Given the description of an element on the screen output the (x, y) to click on. 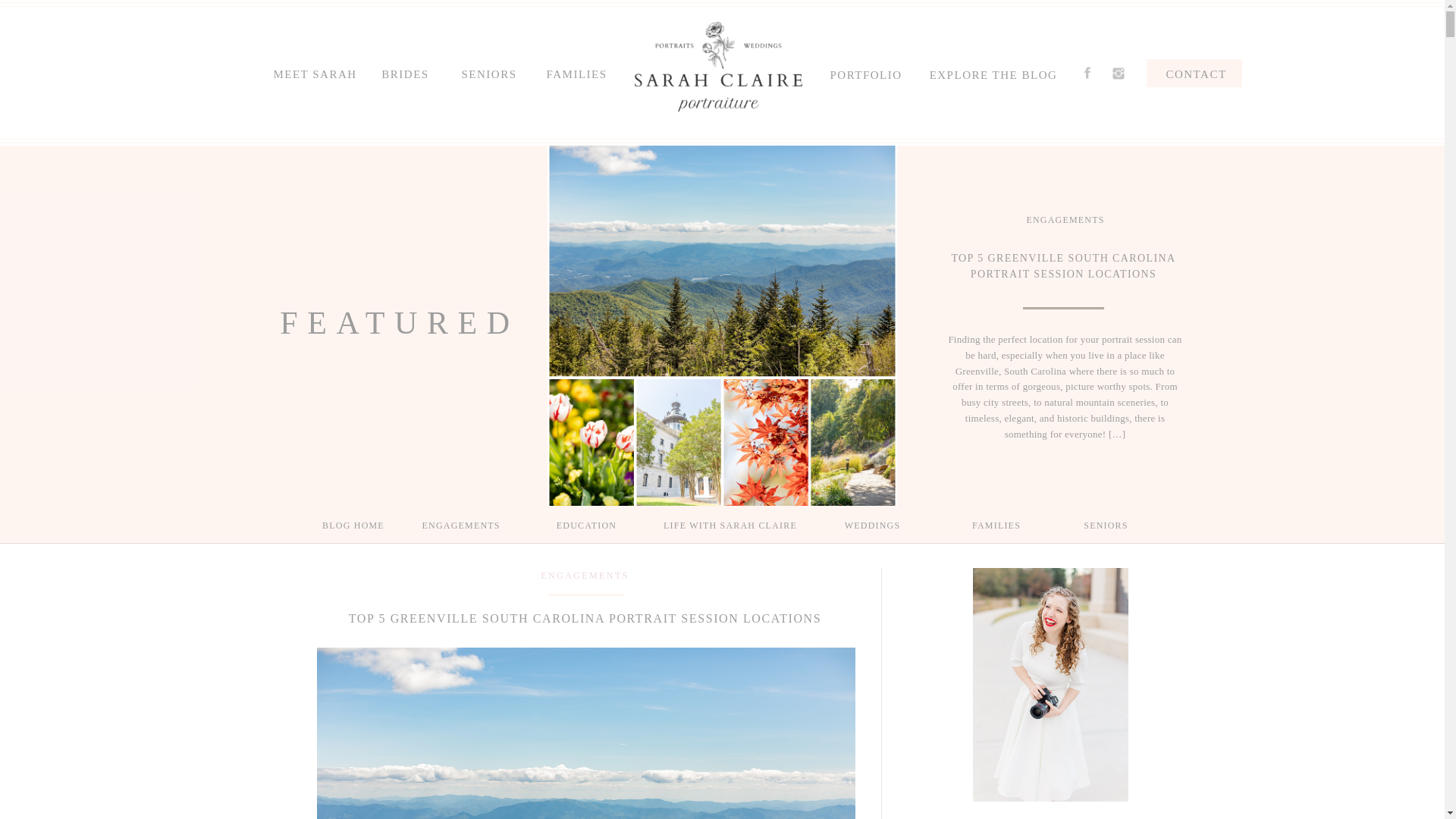
CONTACT (1196, 75)
ENGAGEMENTS (1064, 219)
LIFE WITH SARAH CLAIRE (730, 524)
PORTFOLIO (861, 70)
EXPLORE THE BLOG (992, 72)
FAMILIES (571, 70)
BLOG HOME (353, 524)
FAMILIES (995, 524)
BRIDES (404, 70)
ENGAGEMENTS (459, 524)
ENGAGEMENTS (584, 575)
SENIORS (486, 70)
WEDDINGS (872, 524)
MEET SARAH (314, 70)
